Given the description of an element on the screen output the (x, y) to click on. 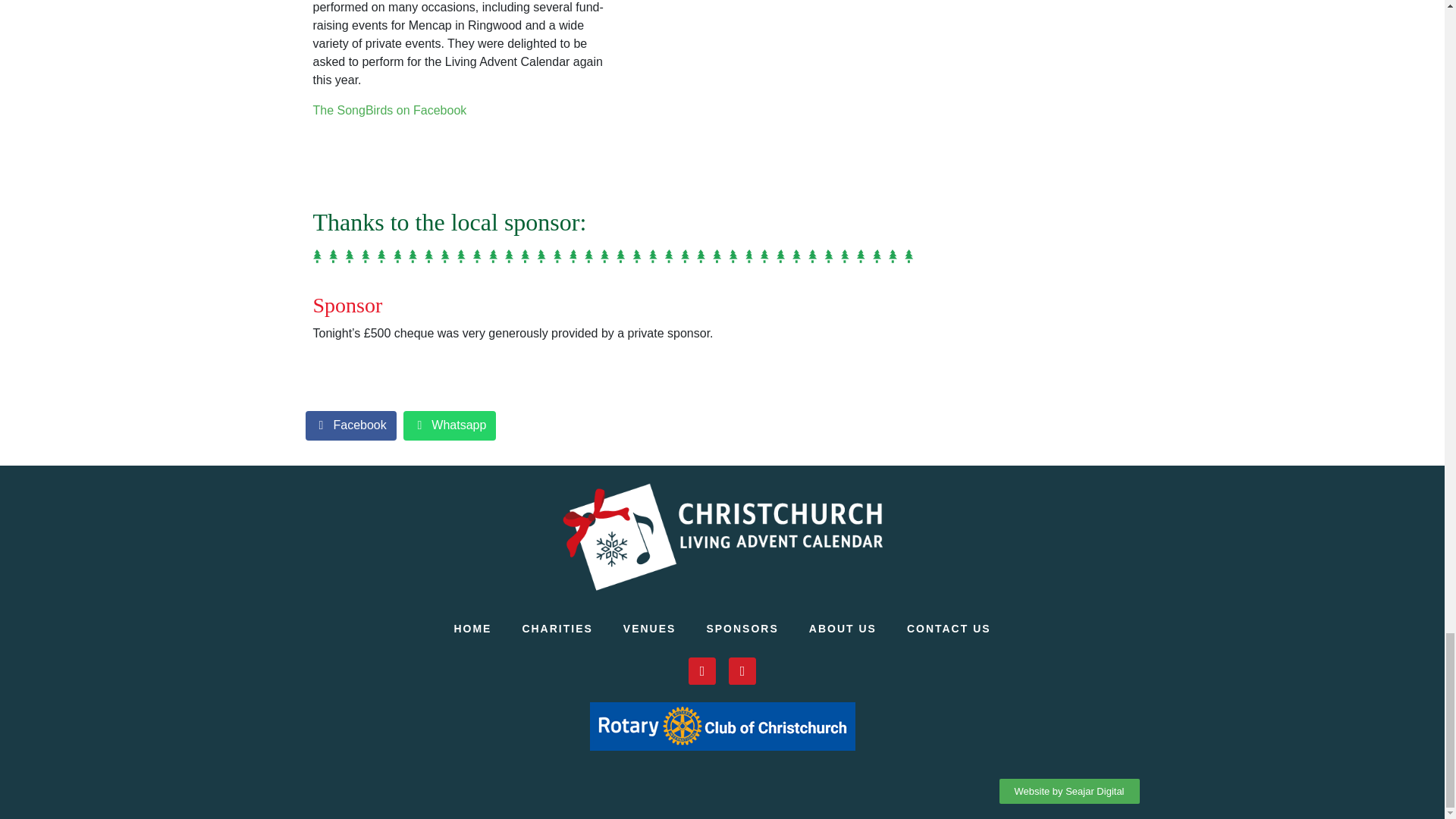
The SongBirds on Facebook (389, 110)
Facebook (350, 425)
